Given the description of an element on the screen output the (x, y) to click on. 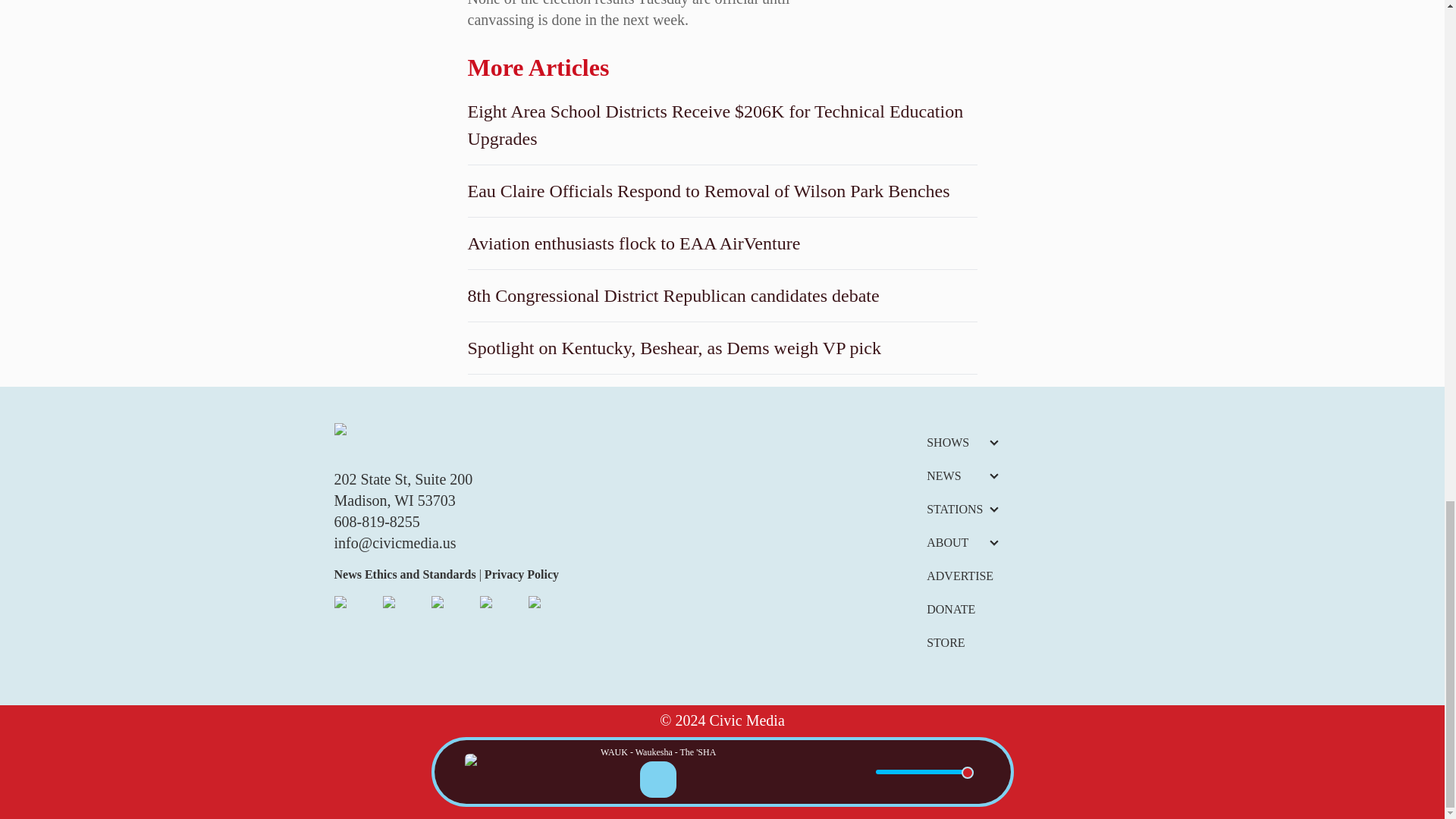
Privacy Policy (520, 574)
Spotlight on Kentucky, Beshear, as Dems weigh VP pick (721, 347)
Aviation enthusiasts flock to EAA AirVenture (721, 243)
News Ethics and Standards (406, 574)
8th Congressional District Republican candidates debate (721, 295)
